Given the description of an element on the screen output the (x, y) to click on. 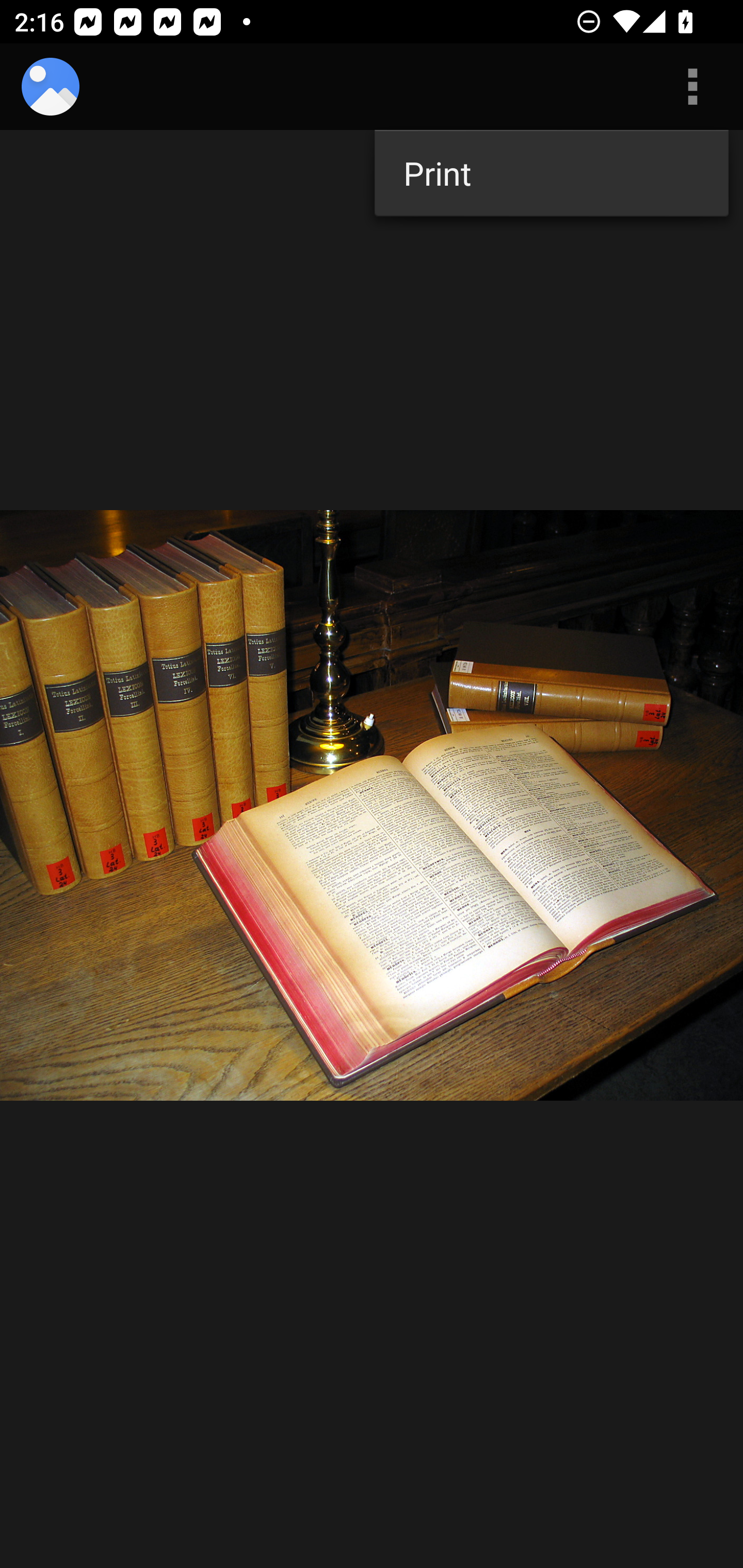
Print (551, 173)
